Given the description of an element on the screen output the (x, y) to click on. 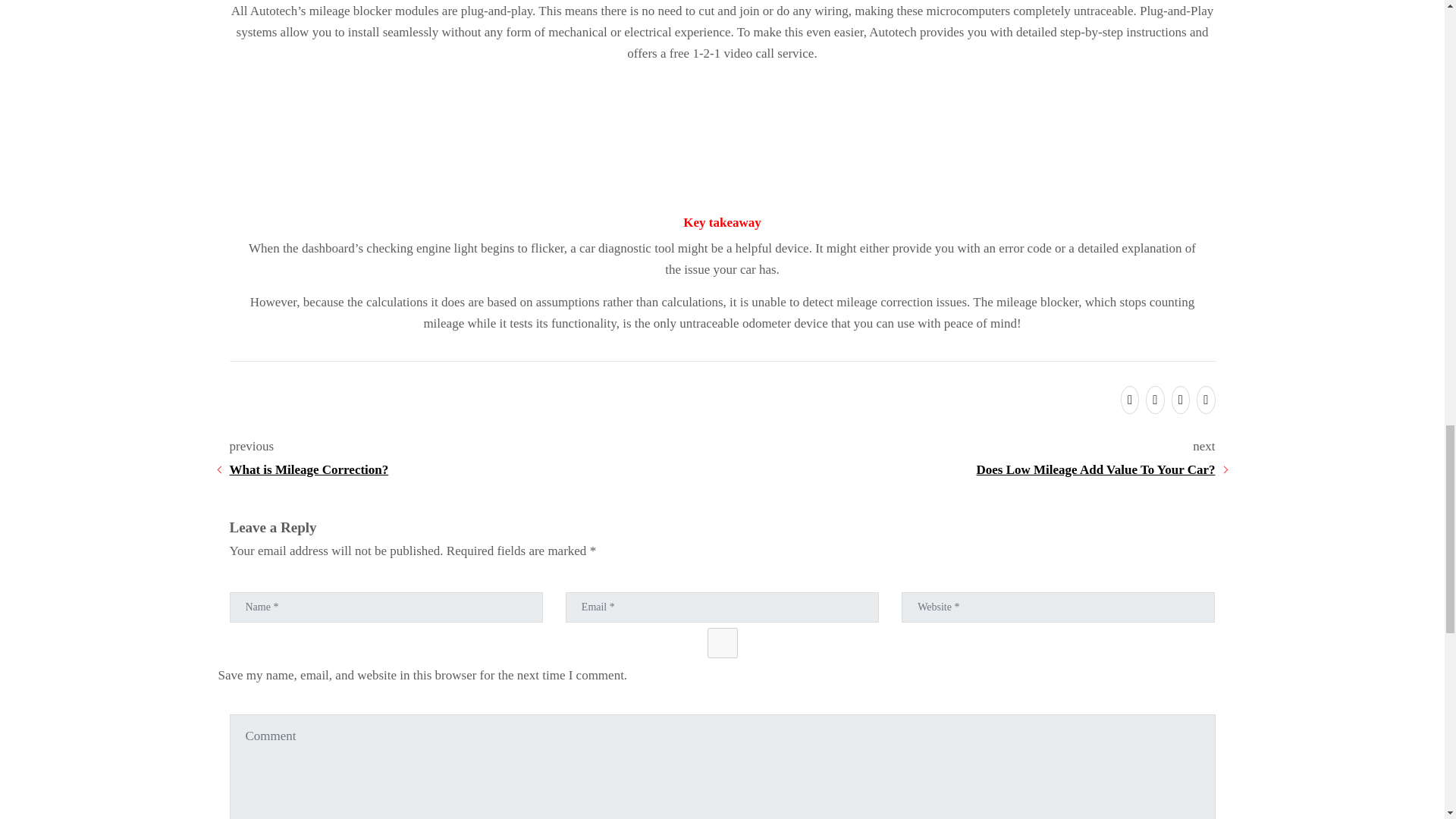
Twitter (1127, 400)
yes (722, 643)
Facebook (1152, 400)
